Given the description of an element on the screen output the (x, y) to click on. 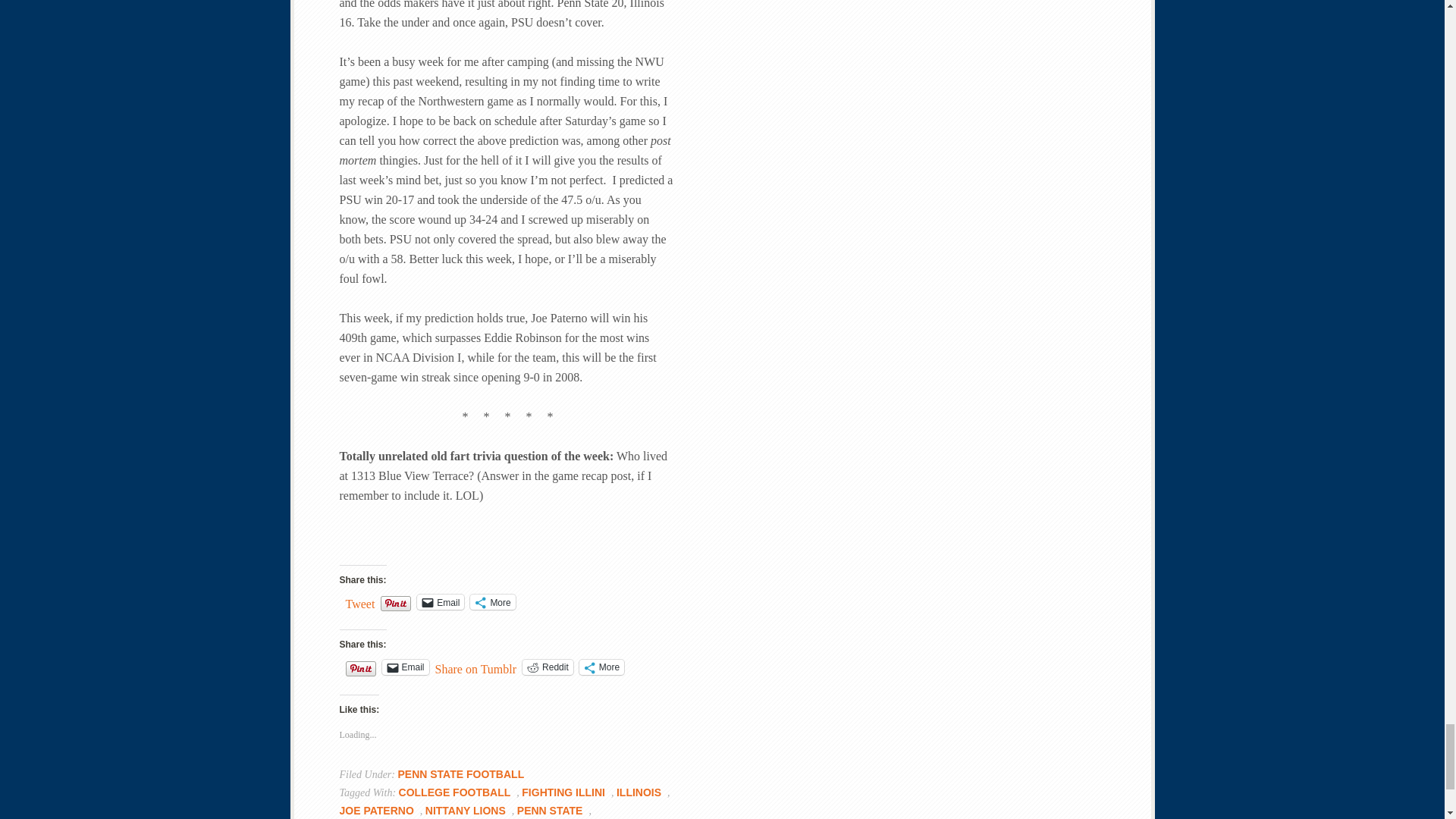
Click to email a link to a friend (440, 601)
Share on Tumblr (475, 666)
Click to email a link to a friend (405, 667)
Click to share on Reddit (547, 667)
